Given the description of an element on the screen output the (x, y) to click on. 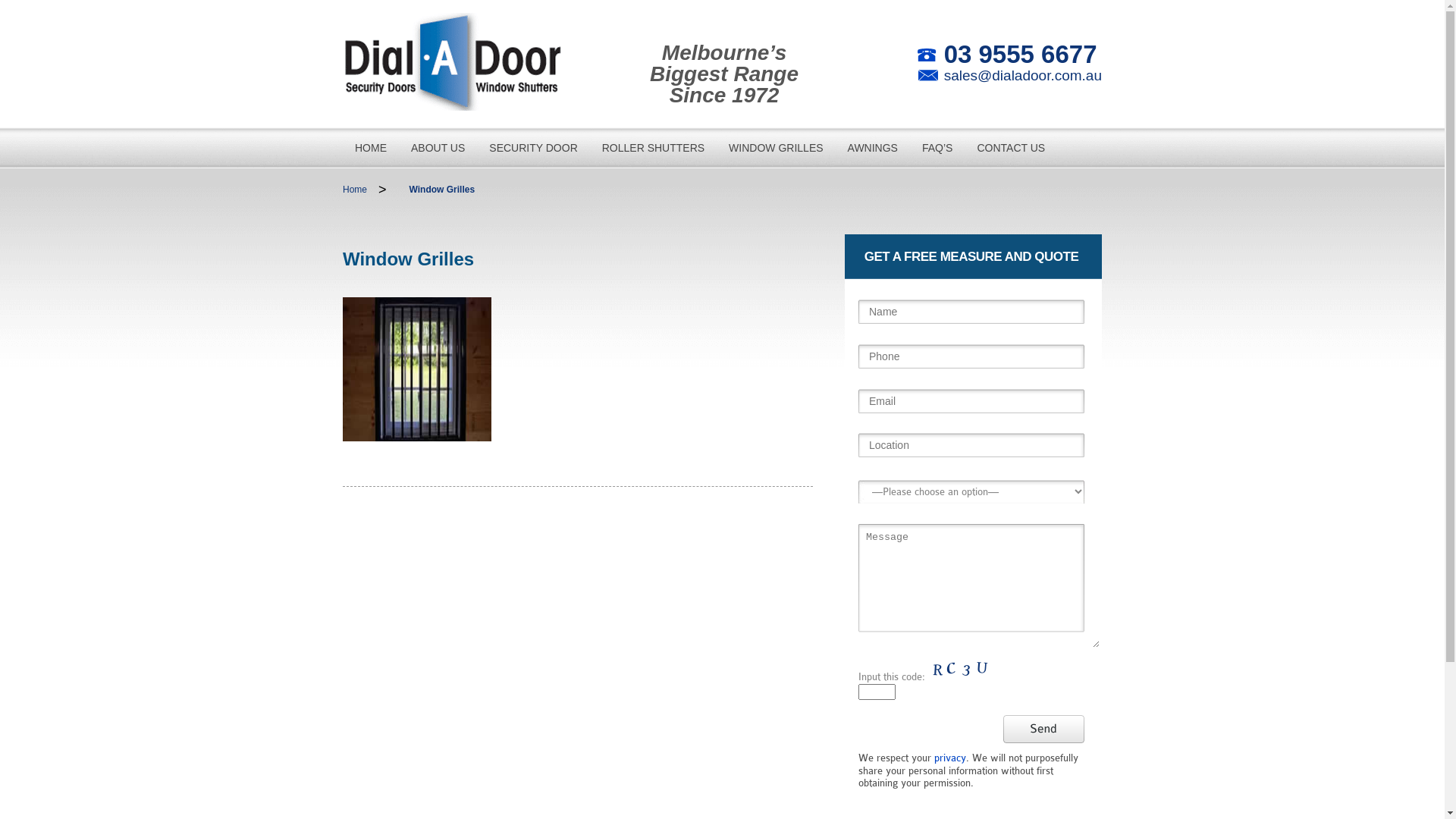
Send Element type: text (1043, 729)
SECURITY DOOR Element type: text (532, 147)
Security Doors Melbourne - Dial a Door Element type: hover (452, 55)
privacy Element type: text (950, 757)
Home Element type: text (354, 189)
HOME Element type: text (370, 147)
Window Grilles Element type: text (442, 189)
sales@dialadoor.com.au Element type: text (1022, 75)
ROLLER SHUTTERS Element type: text (652, 147)
AWNINGS Element type: text (872, 147)
03 9555 6677 Element type: text (1020, 54)
ABOUT US Element type: text (437, 147)
WINDOW GRILLES Element type: text (775, 147)
CONTACT US Element type: text (1010, 147)
